Given the description of an element on the screen output the (x, y) to click on. 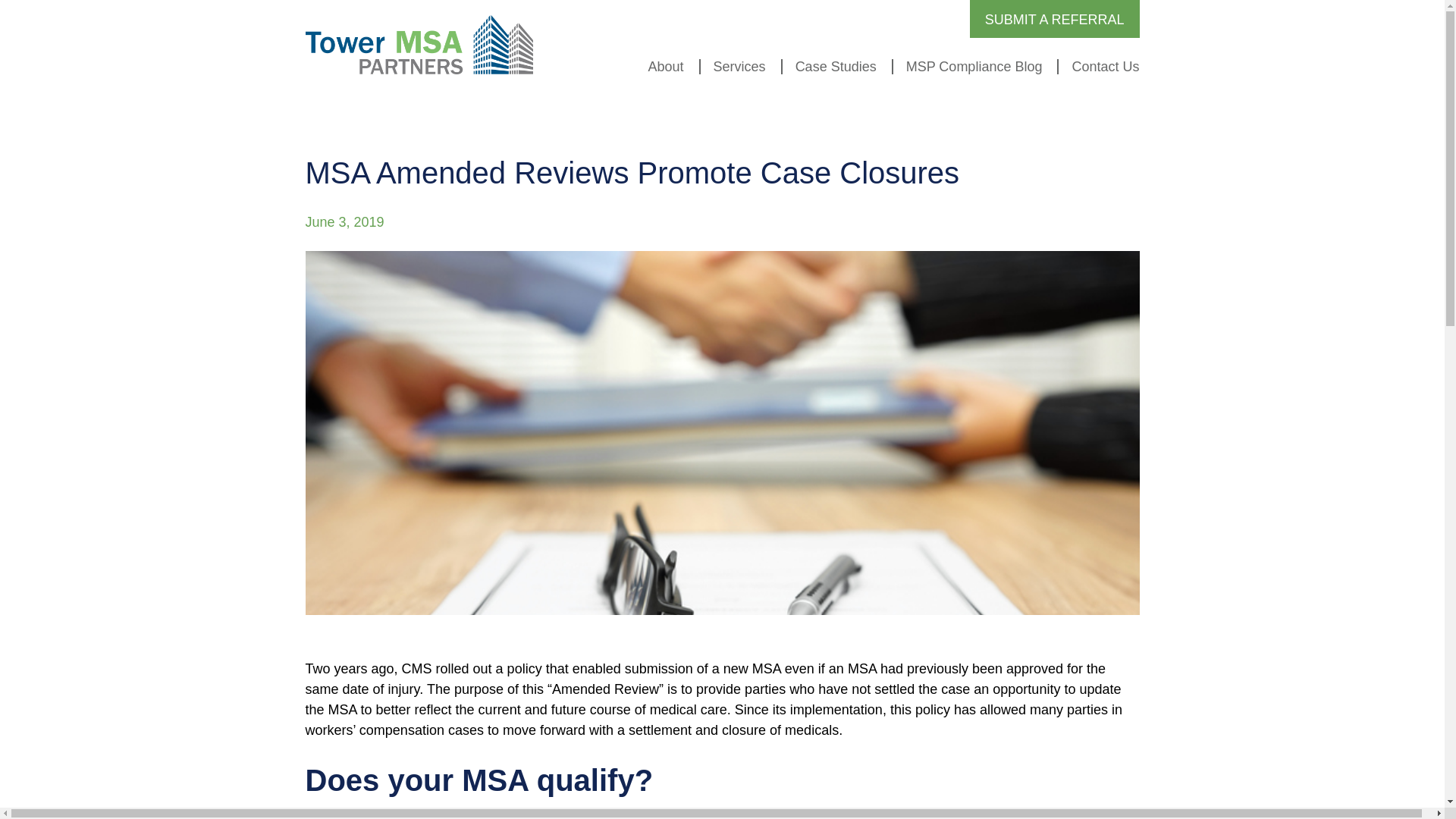
MSP Compliance Blog (967, 66)
Services (732, 66)
SUBMIT A REFERRAL (1054, 19)
Contact Us (1098, 66)
Case Studies (829, 66)
About (659, 66)
Tower MSA (418, 44)
Tower MSA (418, 44)
